Given the description of an element on the screen output the (x, y) to click on. 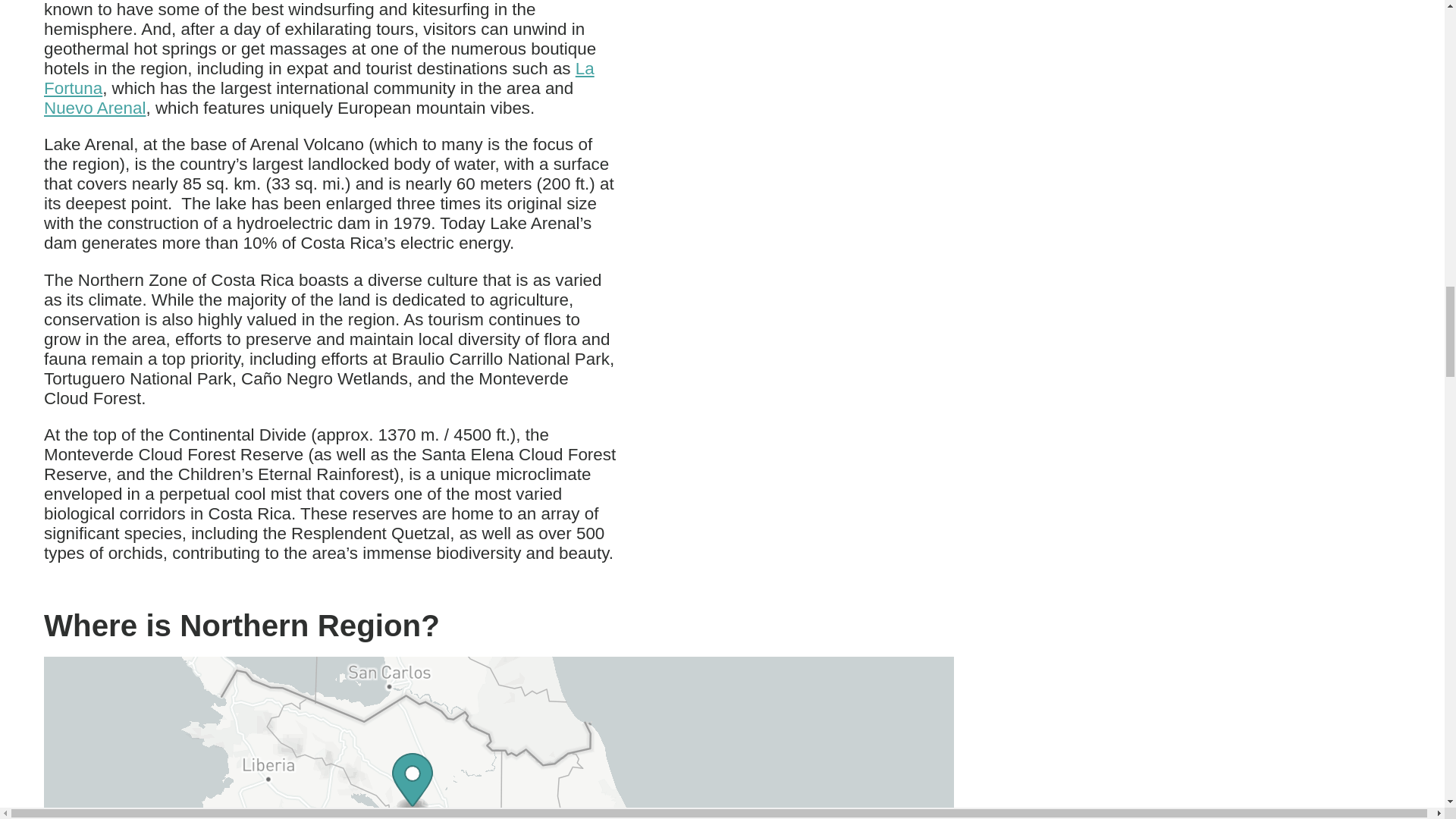
Nuevo Arenal (94, 107)
La Fortuna (318, 77)
